Given the description of an element on the screen output the (x, y) to click on. 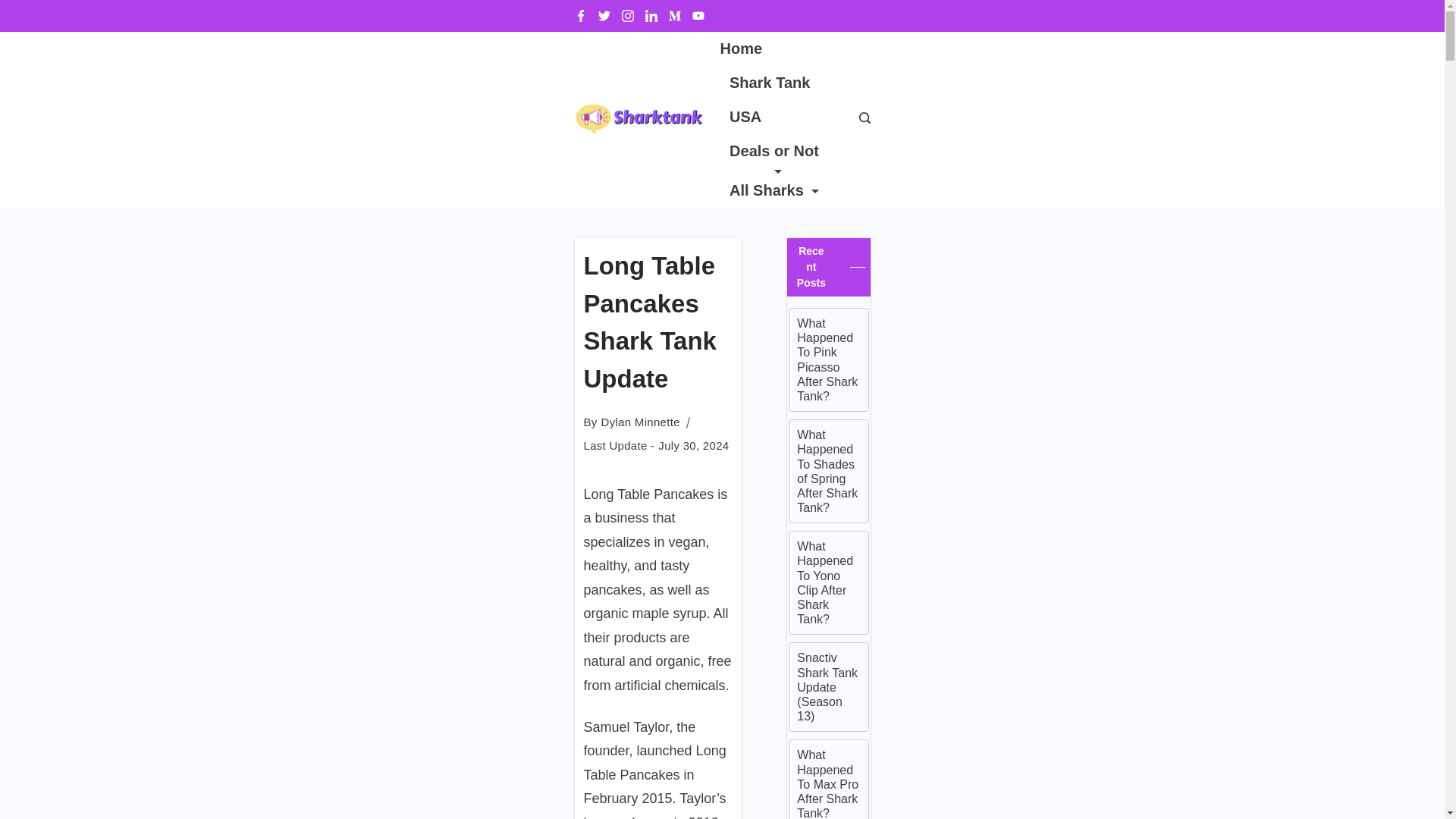
All Sharks (769, 190)
Dylan Minnette (640, 421)
Deals or Not (774, 153)
Shark Tank USA (774, 100)
Home (745, 48)
